Given the description of an element on the screen output the (x, y) to click on. 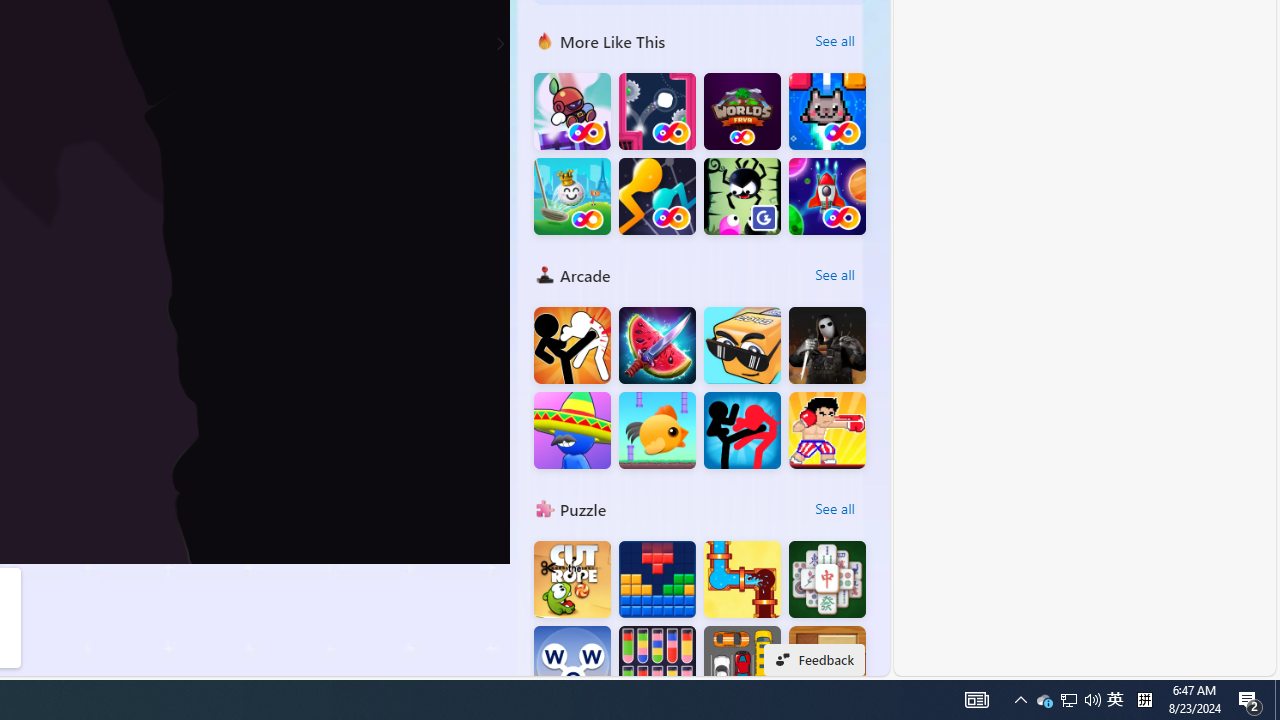
See all (834, 508)
Stickman Fighter : Mega Brawl (571, 345)
Cut the Rope (571, 579)
Words of Wonders (571, 664)
Kitten Force FRVR (827, 111)
Boxing fighter : Super punch (827, 430)
Hunter Hitman (827, 345)
Water Sort Quest : Mission (657, 664)
Cubes2048 (742, 345)
Solitaire Mahjong Classic (827, 579)
Sticky Goo (742, 196)
BlockBuster: Adventures Puzzle (657, 579)
Class: control (499, 43)
Worlds FRVR (742, 111)
